Given the description of an element on the screen output the (x, y) to click on. 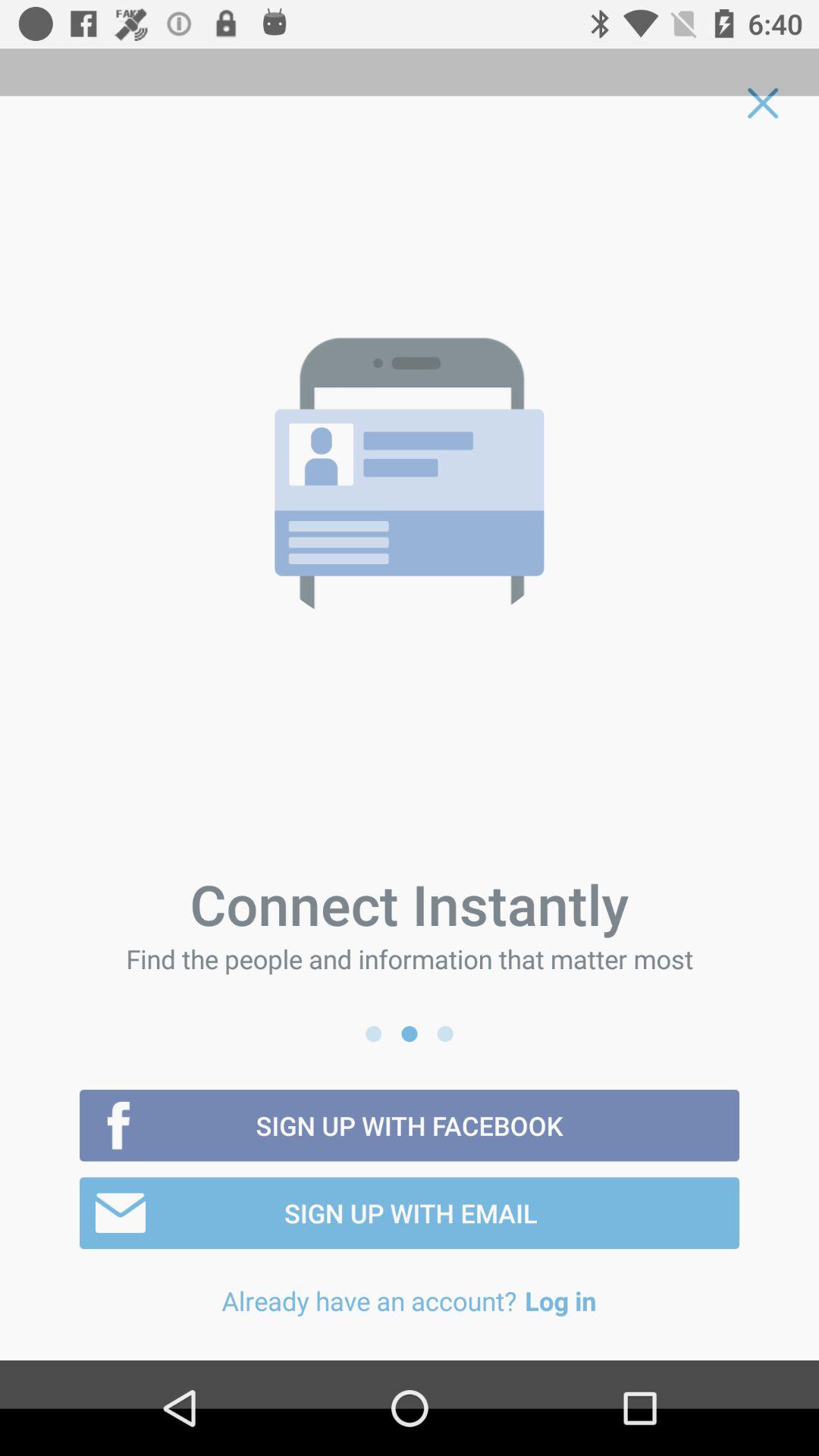
launch icon at the top right corner (763, 103)
